Given the description of an element on the screen output the (x, y) to click on. 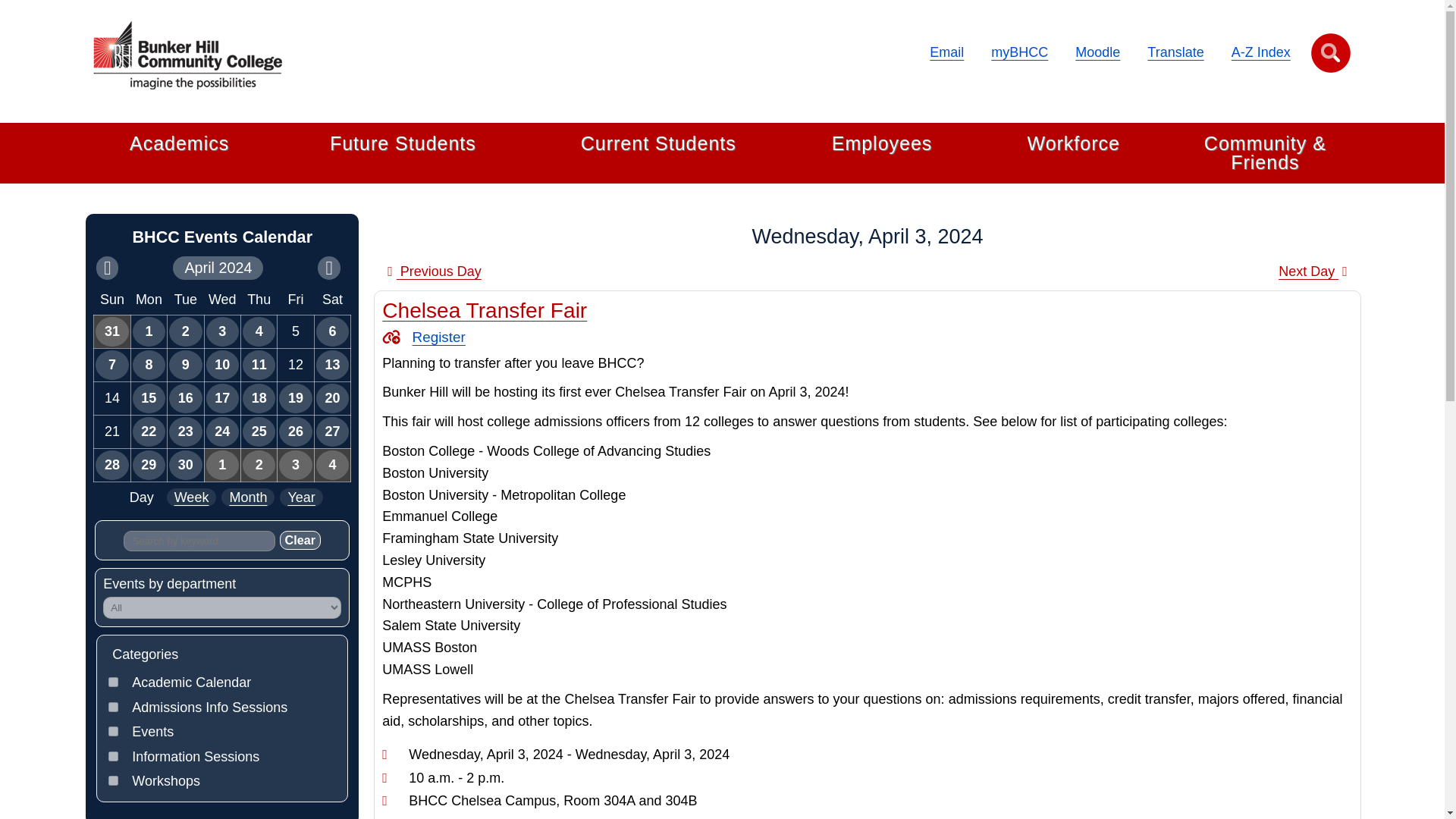
Moodle (1097, 52)
Translate (1175, 52)
Go to previous month (106, 268)
Current Students (658, 143)
Future Students (403, 143)
Workforce (1072, 143)
Employees (882, 143)
Email (946, 52)
A-Z Index (1260, 52)
myBHCC (1019, 52)
